Given the description of an element on the screen output the (x, y) to click on. 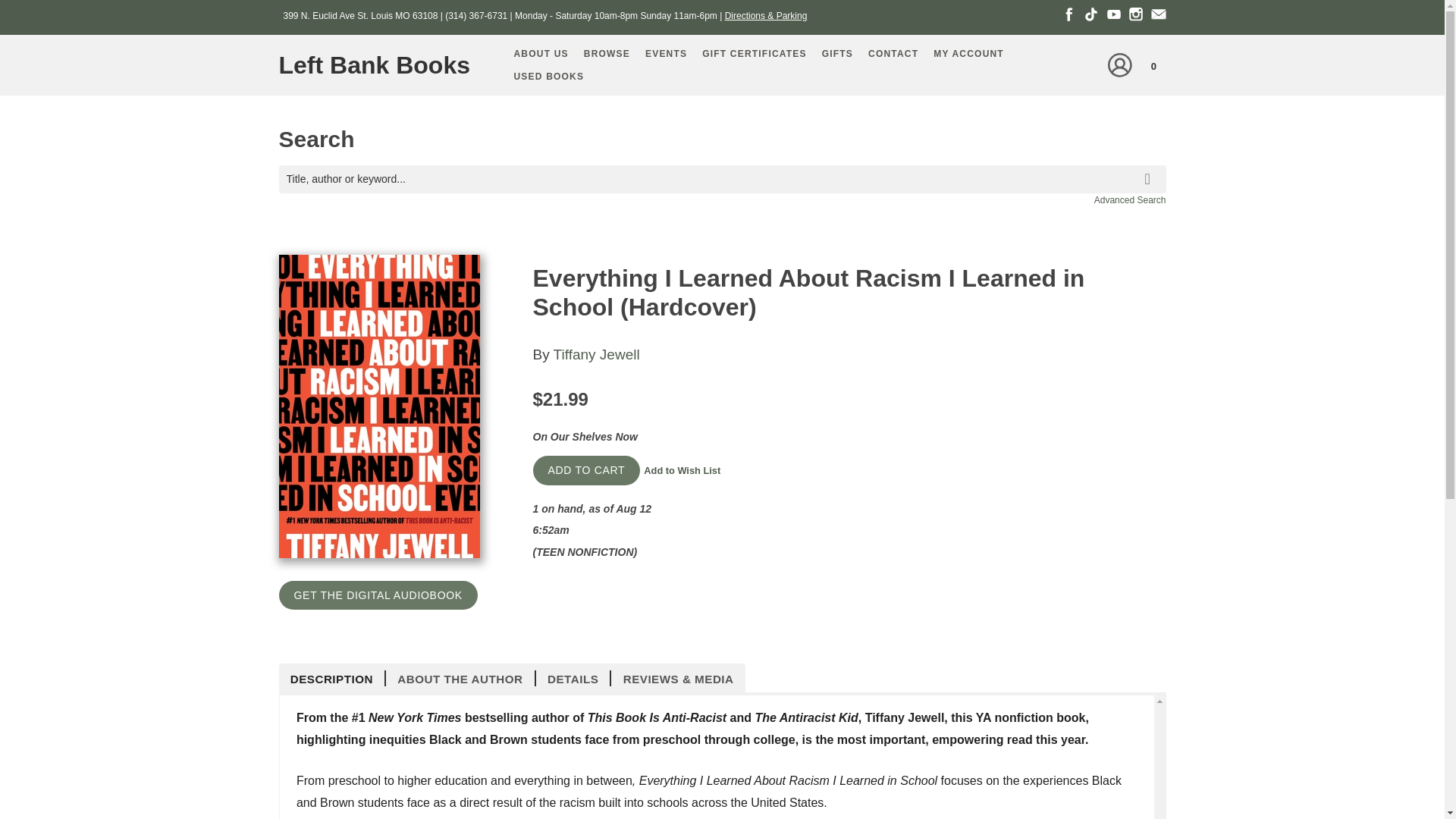
T-Shirts, Gifts and More (836, 53)
ABOUT US (541, 53)
Add to Cart (586, 470)
EVENTS (665, 53)
BROWSE (606, 53)
search (1150, 167)
GIFTS (836, 53)
Home (381, 64)
Left Bank Books (381, 64)
